Given the description of an element on the screen output the (x, y) to click on. 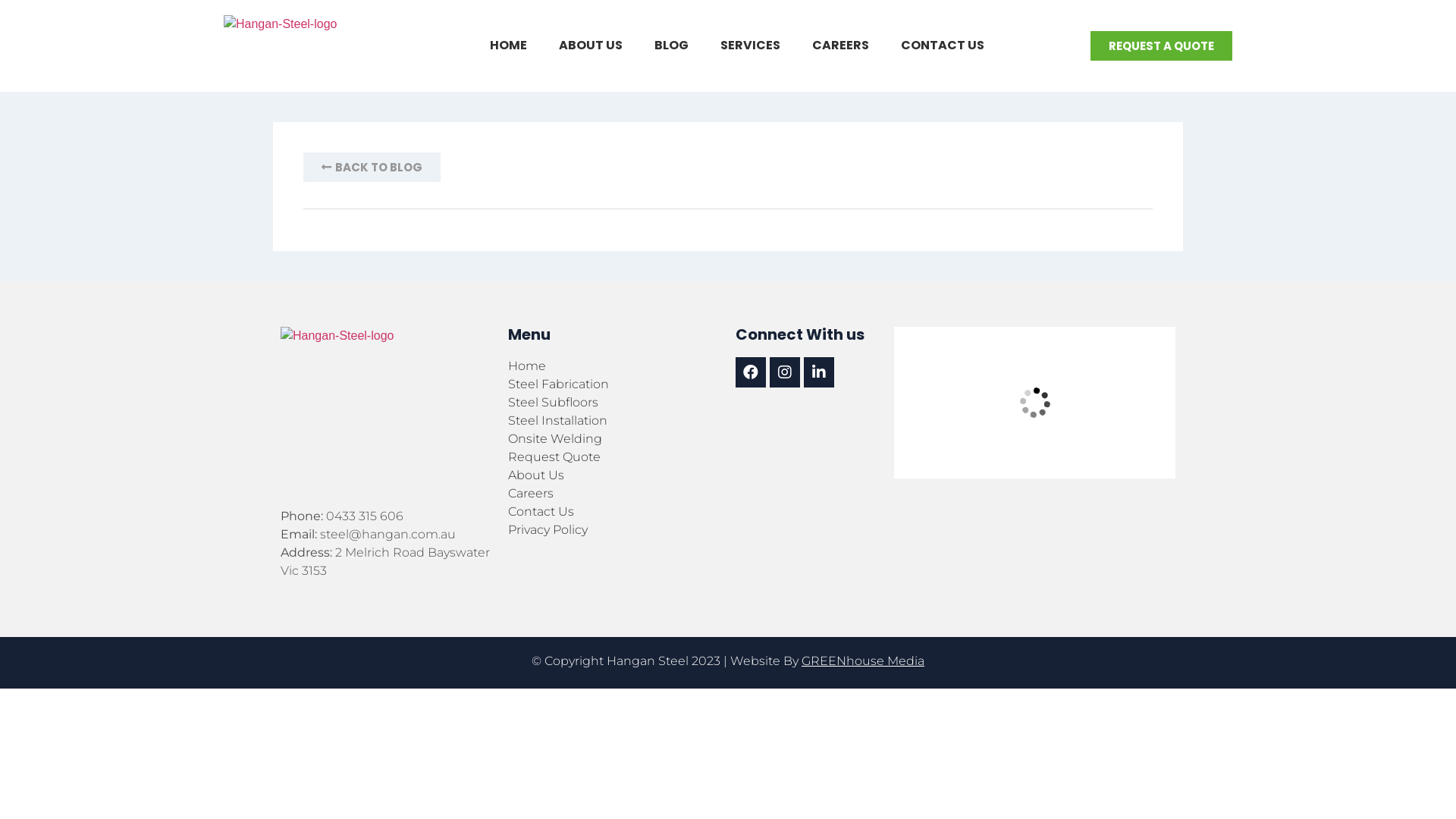
steel@hangan.com.au Element type: text (387, 534)
REQUEST A QUOTE Element type: text (1161, 45)
CAREERS Element type: text (839, 45)
2 Melrich Road Bayswater Vic 3153 Element type: text (384, 561)
hangan steel Element type: hover (1034, 402)
BACK TO BLOG Element type: text (371, 167)
Steel Subfloors Element type: text (614, 402)
Onsite Welding Element type: text (614, 438)
GREENhouse Media Element type: text (862, 660)
CONTACT US Element type: text (942, 45)
ABOUT US Element type: text (589, 45)
Home Element type: text (614, 366)
0433 315 606 Element type: text (364, 515)
Contact Us Element type: text (614, 511)
Steel Installation Element type: text (614, 420)
Careers Element type: text (614, 493)
HOME Element type: text (508, 45)
SERVICES Element type: text (750, 45)
Privacy Policy Element type: text (614, 529)
Request Quote Element type: text (614, 457)
About Us Element type: text (614, 475)
BLOG Element type: text (670, 45)
Steel Fabrication Element type: text (614, 384)
